Given the description of an element on the screen output the (x, y) to click on. 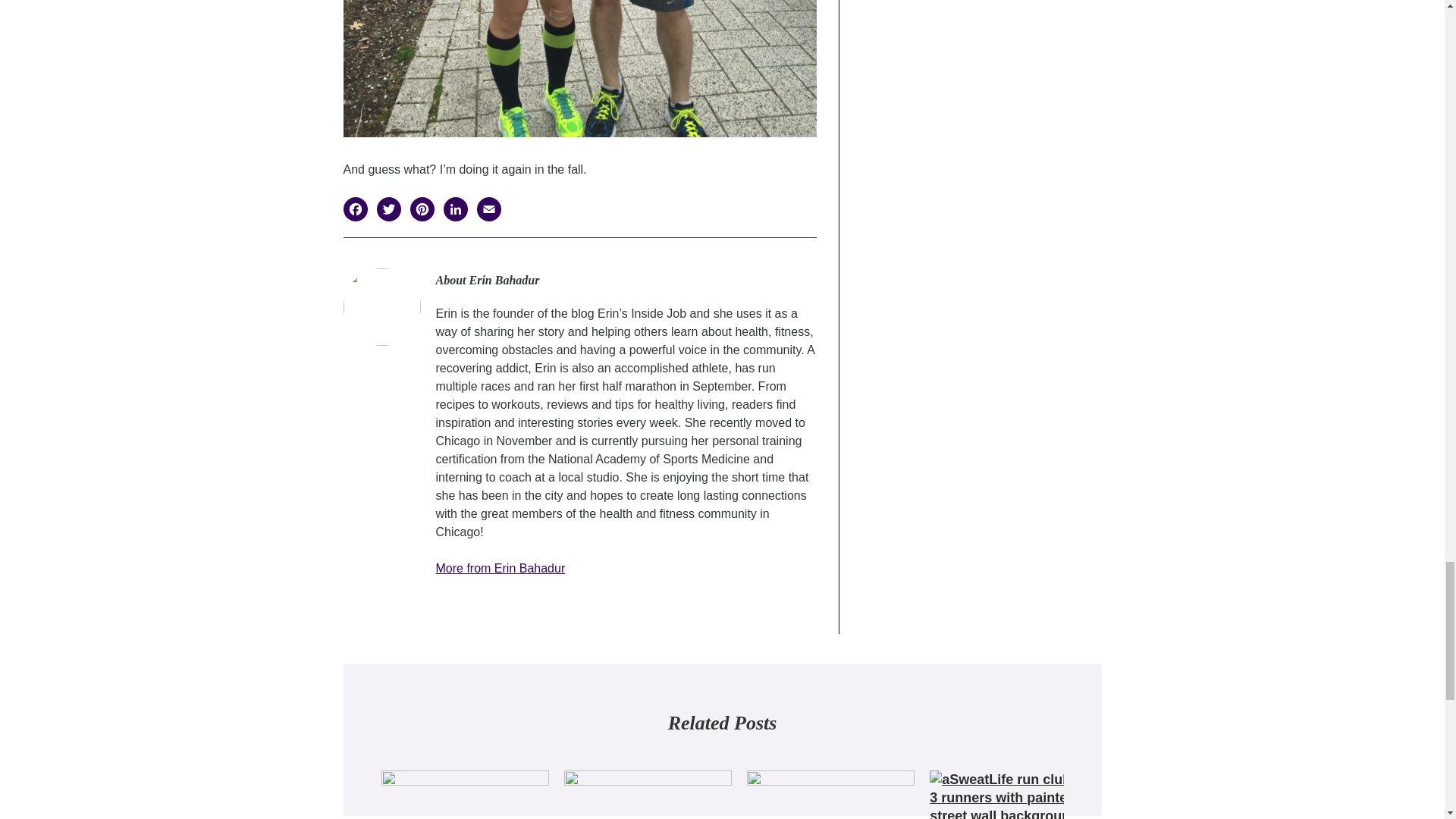
Twitter (392, 211)
Email (492, 211)
Twitter (392, 211)
Pinterest (425, 211)
More from Erin Bahadur (499, 567)
Facebook (358, 211)
Pinterest (425, 211)
Facebook (358, 211)
LinkedIn (459, 211)
